Given the description of an element on the screen output the (x, y) to click on. 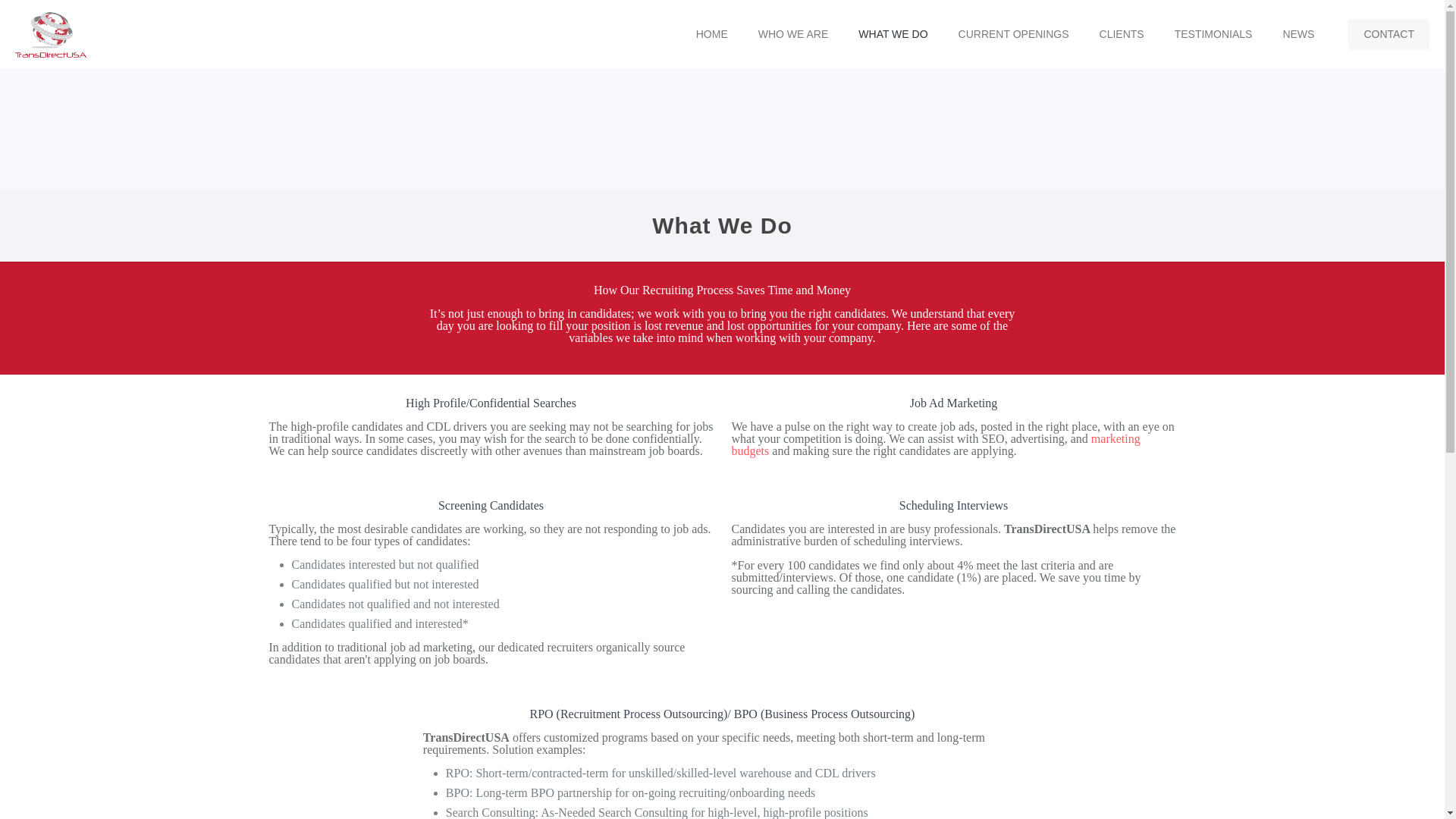
CONTACT (1388, 33)
TransDirectUSA (49, 33)
TESTIMONIALS (1213, 33)
CLIENTS (1121, 33)
marketing budgets (935, 444)
WHAT WE DO (892, 33)
WHO WE ARE (793, 33)
HOME (711, 33)
NEWS (1297, 33)
CURRENT OPENINGS (1013, 33)
